Given the description of an element on the screen output the (x, y) to click on. 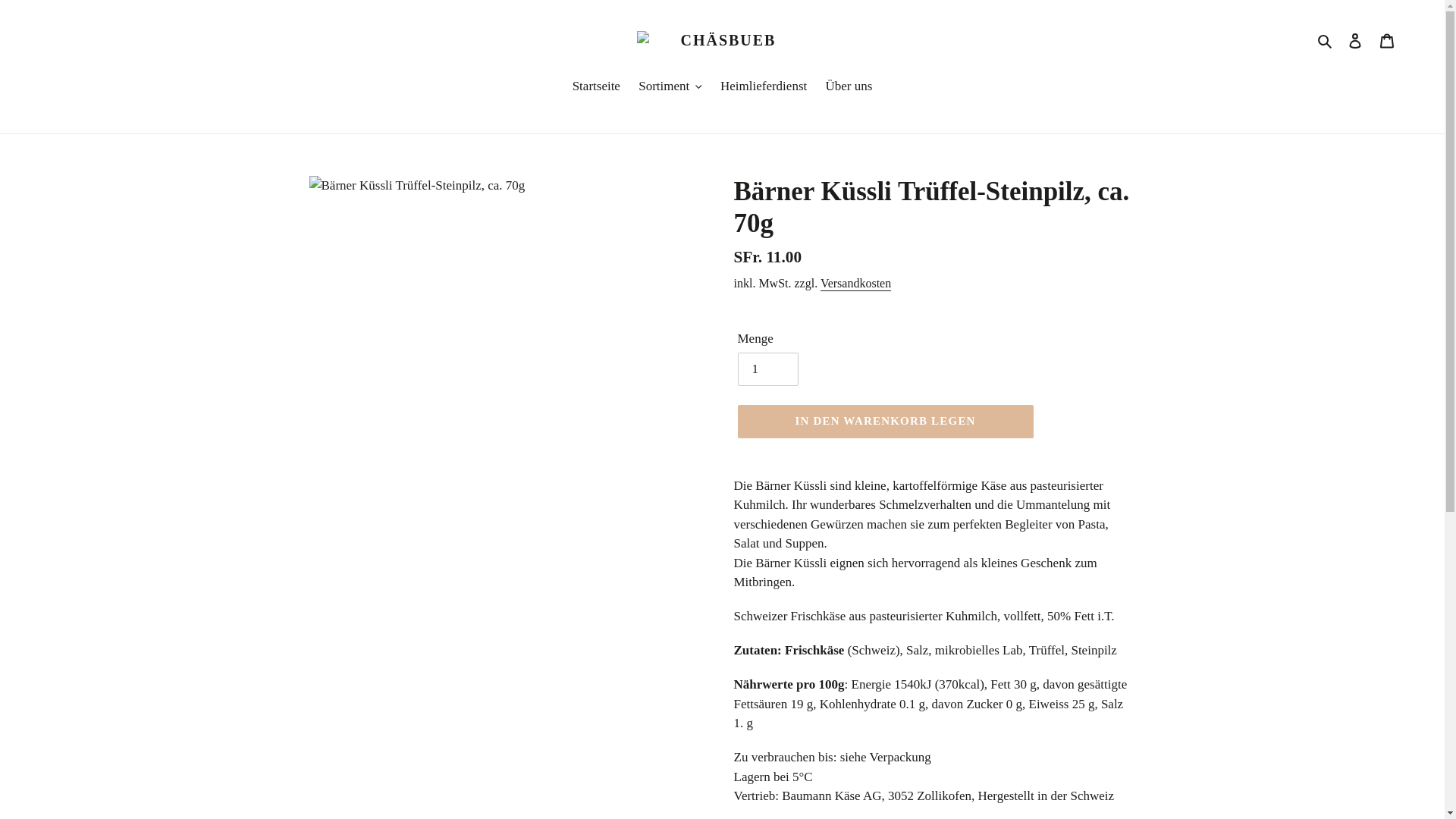
Warenkorb Element type: text (1386, 39)
Sortiment Element type: text (669, 86)
Heimlieferdienst Element type: text (763, 86)
Startseite Element type: text (595, 86)
Einloggen Element type: text (1355, 39)
Versandkosten Element type: text (855, 283)
Suchen Element type: text (1325, 39)
IN DEN WARENKORB LEGEN Element type: text (884, 421)
